Given the description of an element on the screen output the (x, y) to click on. 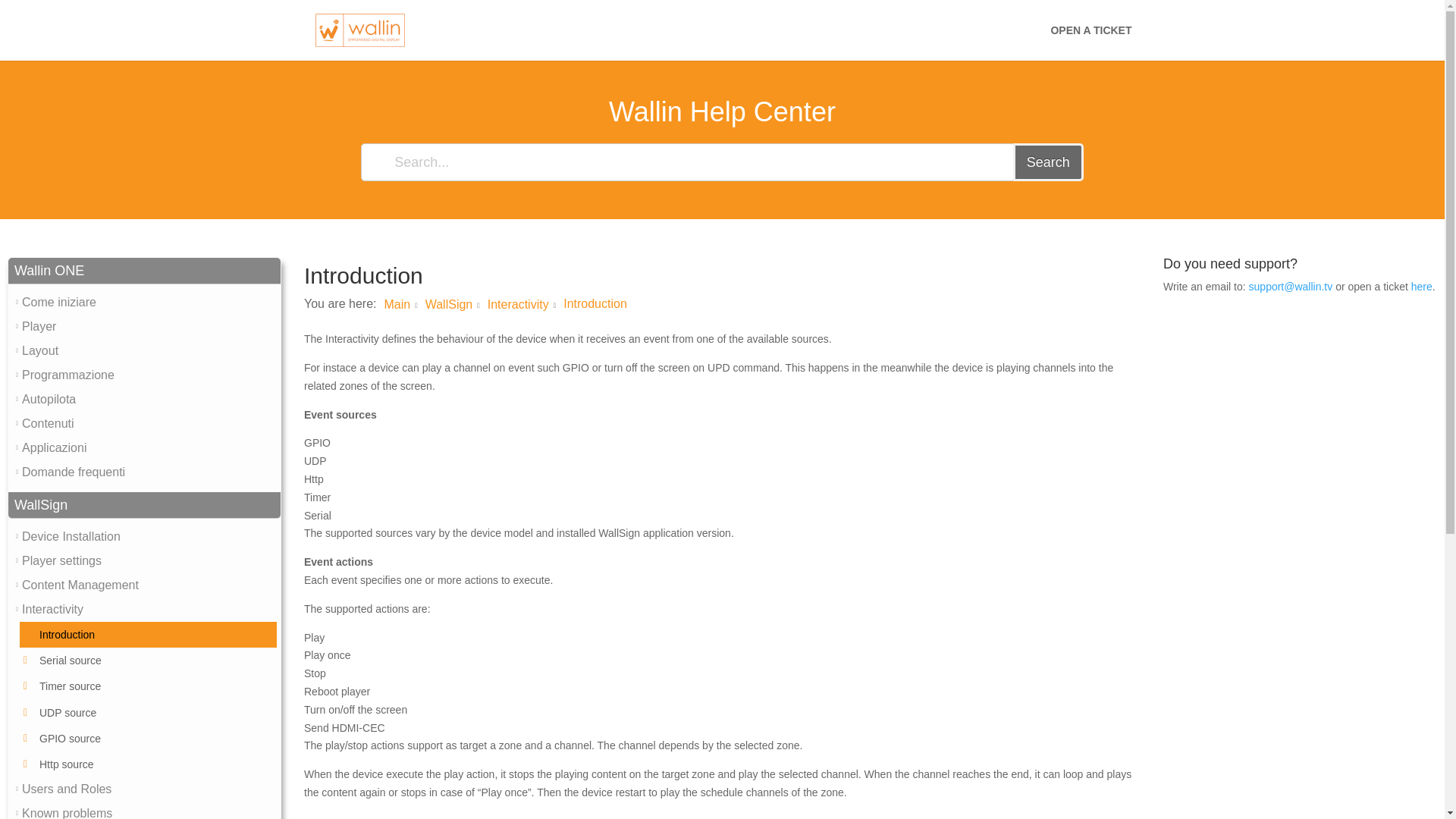
Layout (39, 350)
Search (1048, 161)
Player (38, 326)
Autopilota (48, 399)
OPEN A TICKET (1090, 42)
Contenuti (47, 423)
Programmazione (68, 375)
Come iniziare (58, 302)
Applicazioni (53, 448)
